Given the description of an element on the screen output the (x, y) to click on. 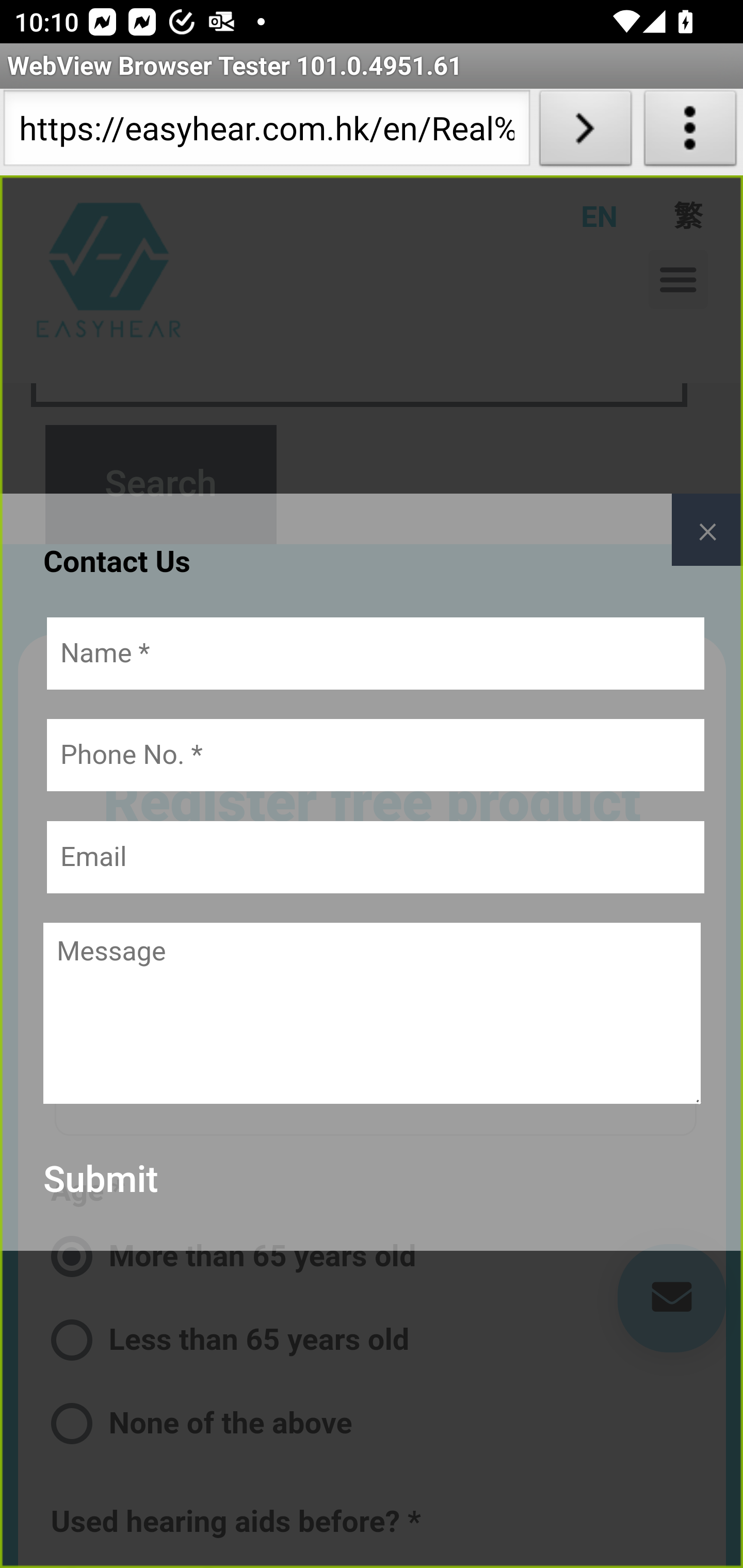
https://easyhear.com.hk/en/Real%20Madrid (266, 132)
Load URL (585, 132)
About WebView (690, 132)
× (707, 529)
Submit (101, 1180)
